Given the description of an element on the screen output the (x, y) to click on. 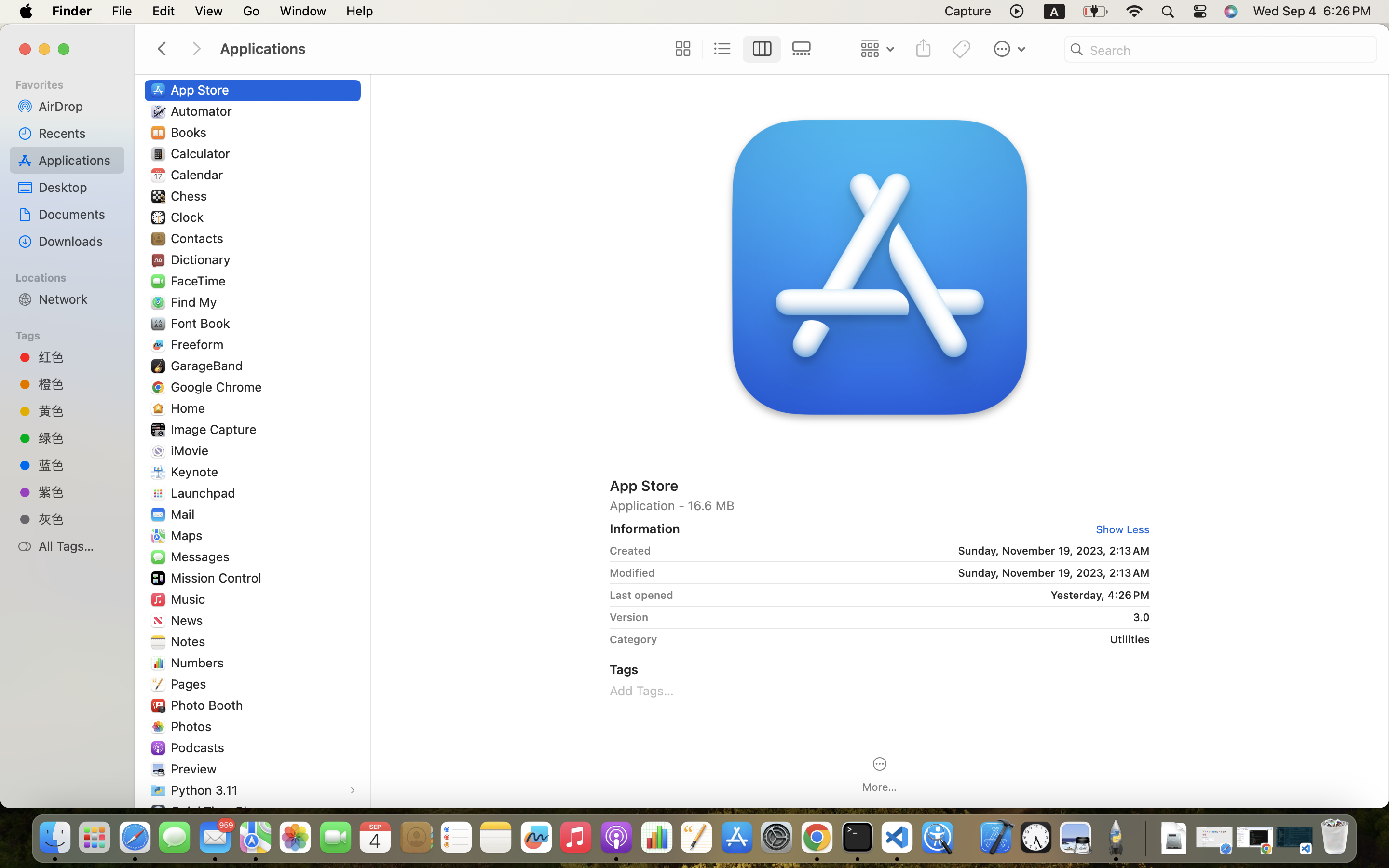
Freeform Element type: AXTextField (198, 344)
Photos Element type: AXTextField (192, 725)
<AXUIElement 0x147f902f0> {pid=510} Element type: AXRadioGroup (741, 48)
Messages Element type: AXTextField (201, 556)
Downloads Element type: AXStaticText (77, 240)
